Given the description of an element on the screen output the (x, y) to click on. 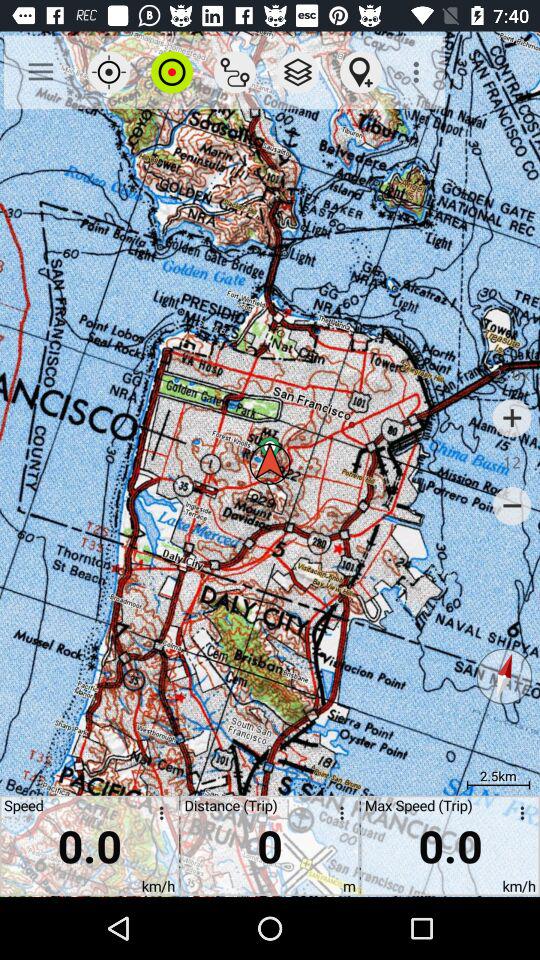
more options (338, 816)
